Given the description of an element on the screen output the (x, y) to click on. 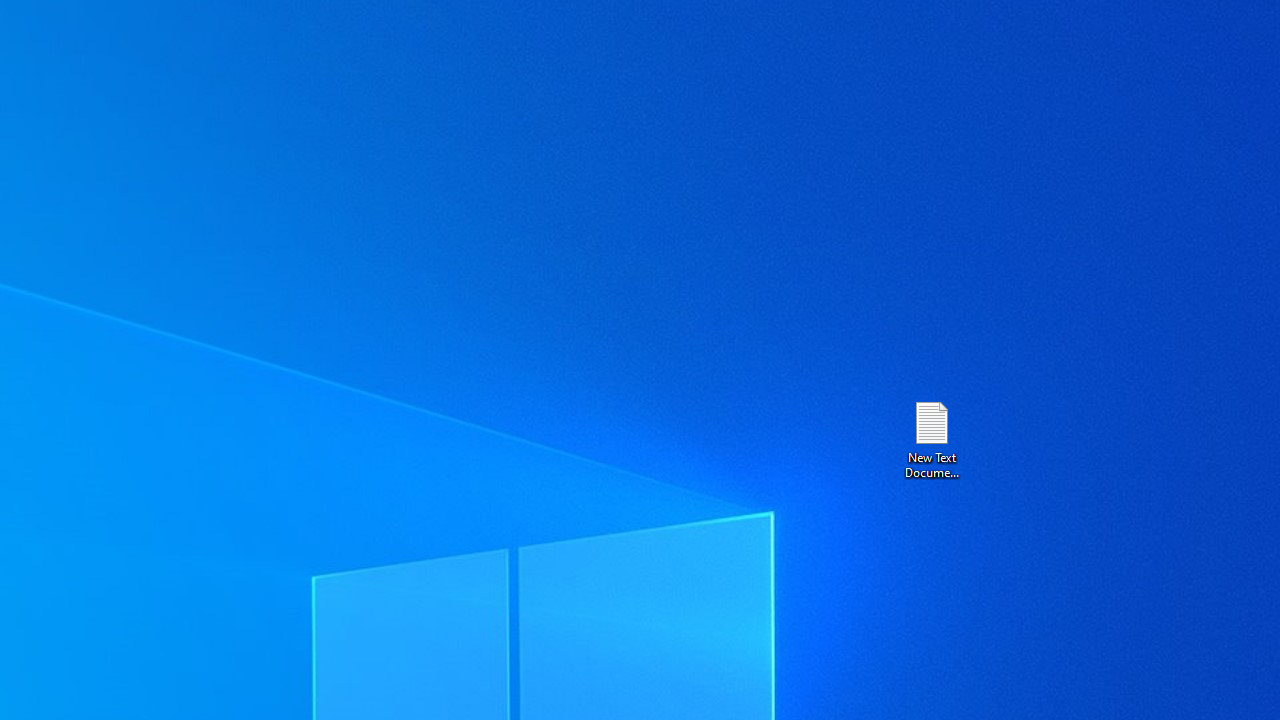
New Text Document (2) (931, 438)
